Given the description of an element on the screen output the (x, y) to click on. 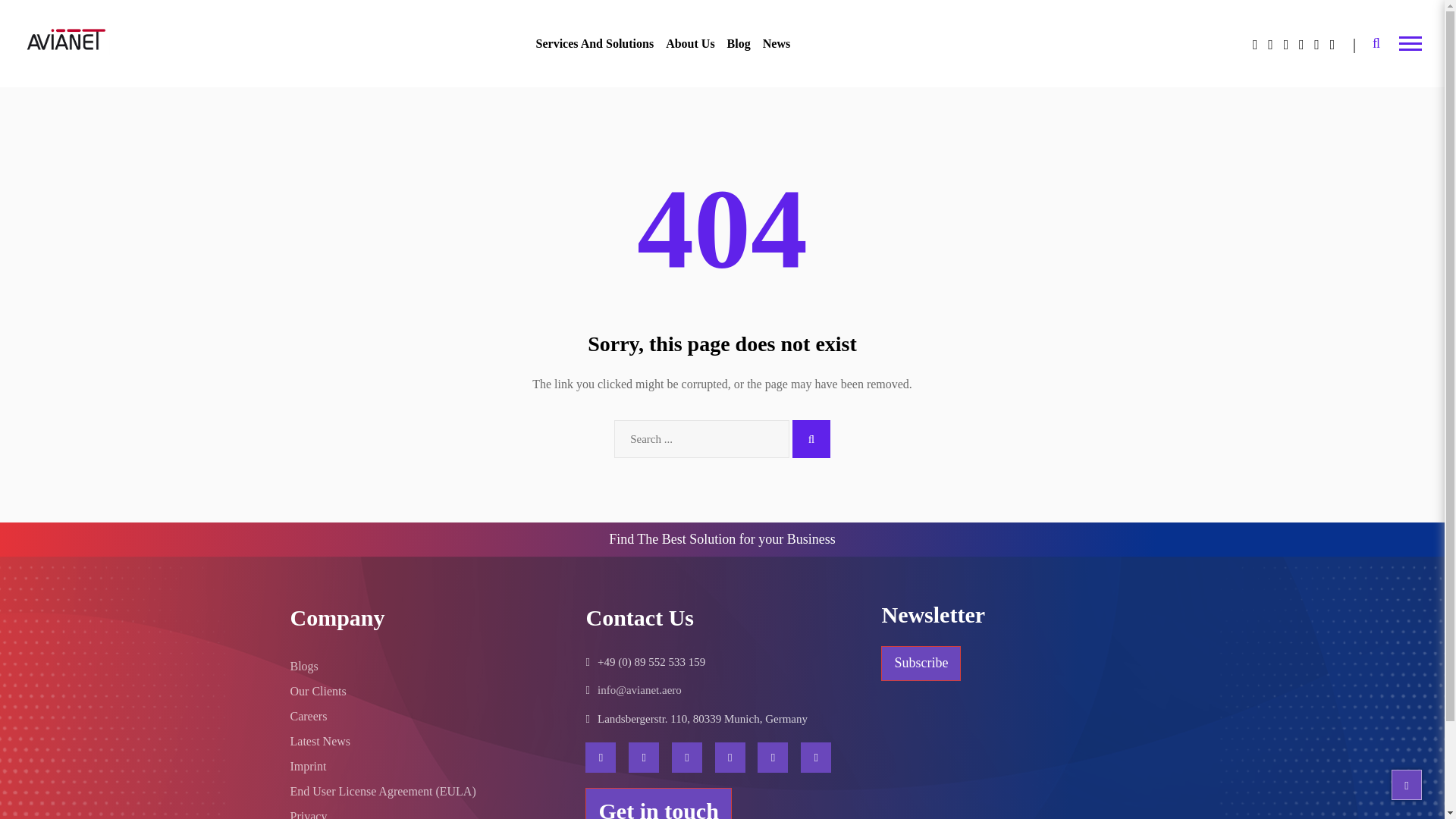
Services And Solutions (595, 43)
